Given the description of an element on the screen output the (x, y) to click on. 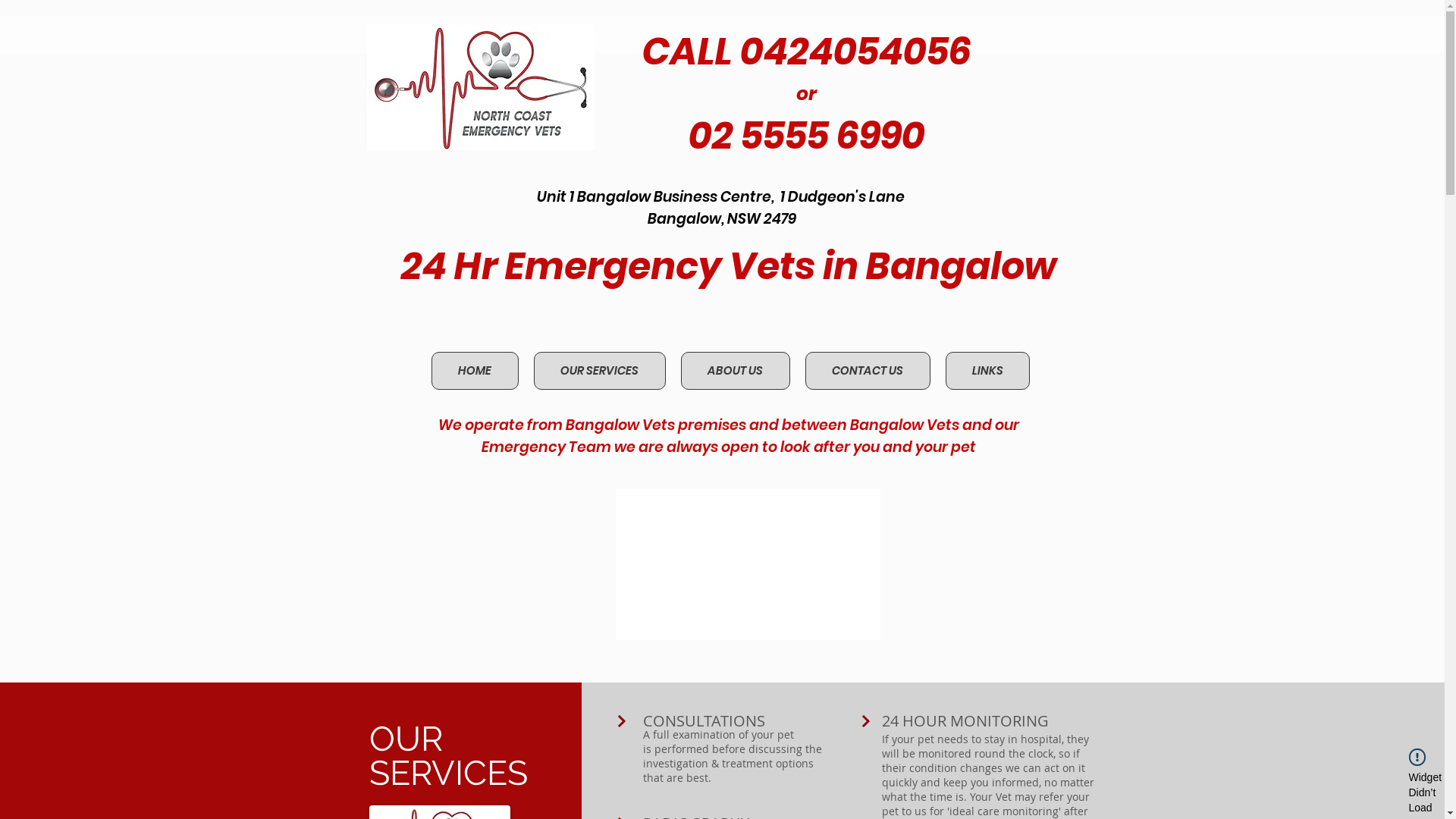
CONTACT US Element type: text (867, 370)
ABOUT US Element type: text (735, 370)
LINKS Element type: text (986, 370)
OUR SERVICES Element type: text (599, 370)
HOME Element type: text (473, 370)
Google Maps Element type: hover (747, 564)
